Given the description of an element on the screen output the (x, y) to click on. 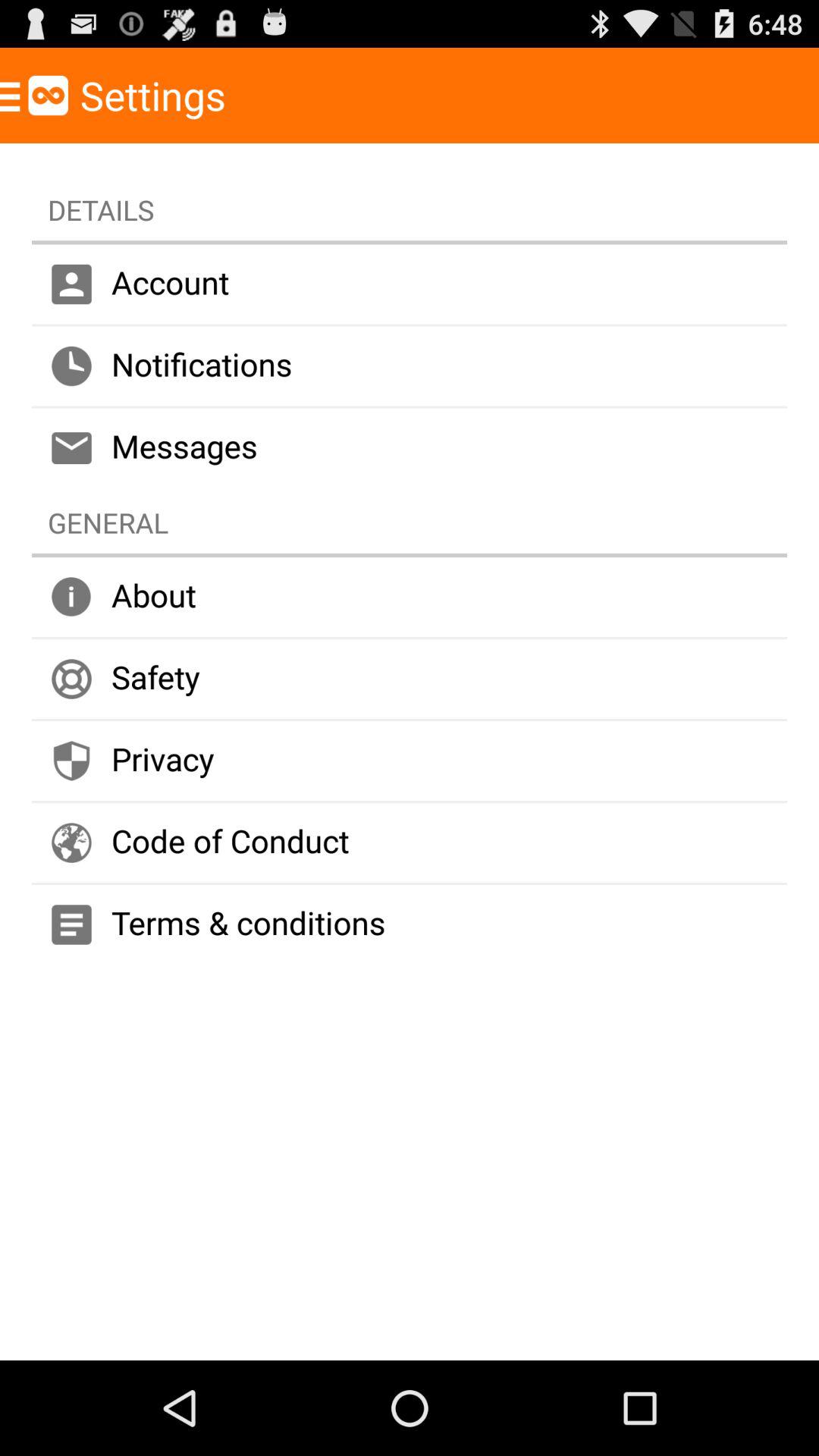
launch the icon below notifications item (409, 447)
